Given the description of an element on the screen output the (x, y) to click on. 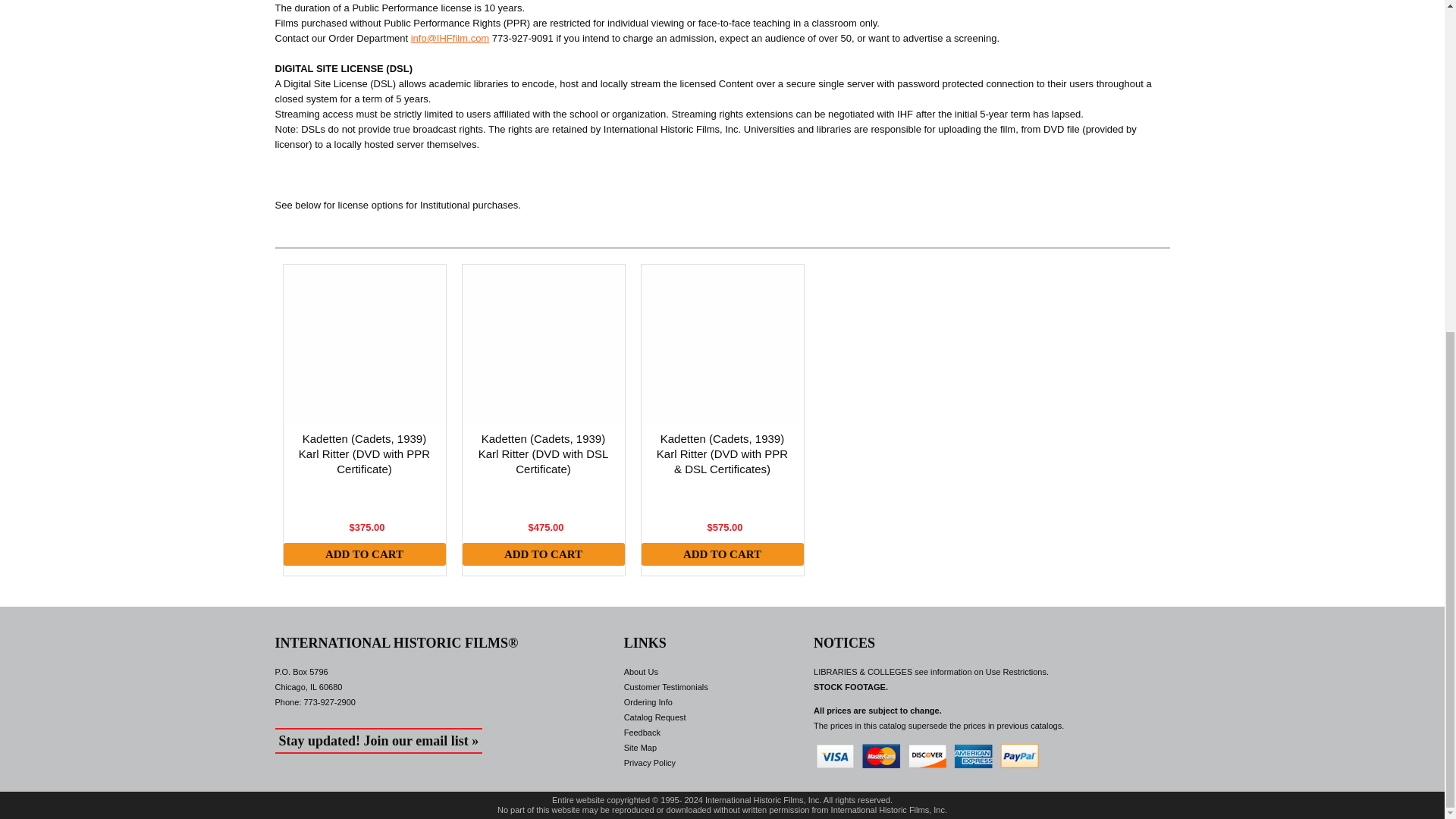
Add to cart (364, 553)
Add to cart (722, 553)
Add to cart (543, 553)
Add to cart (543, 553)
Add to cart (364, 553)
Add to cart (722, 553)
